Given the description of an element on the screen output the (x, y) to click on. 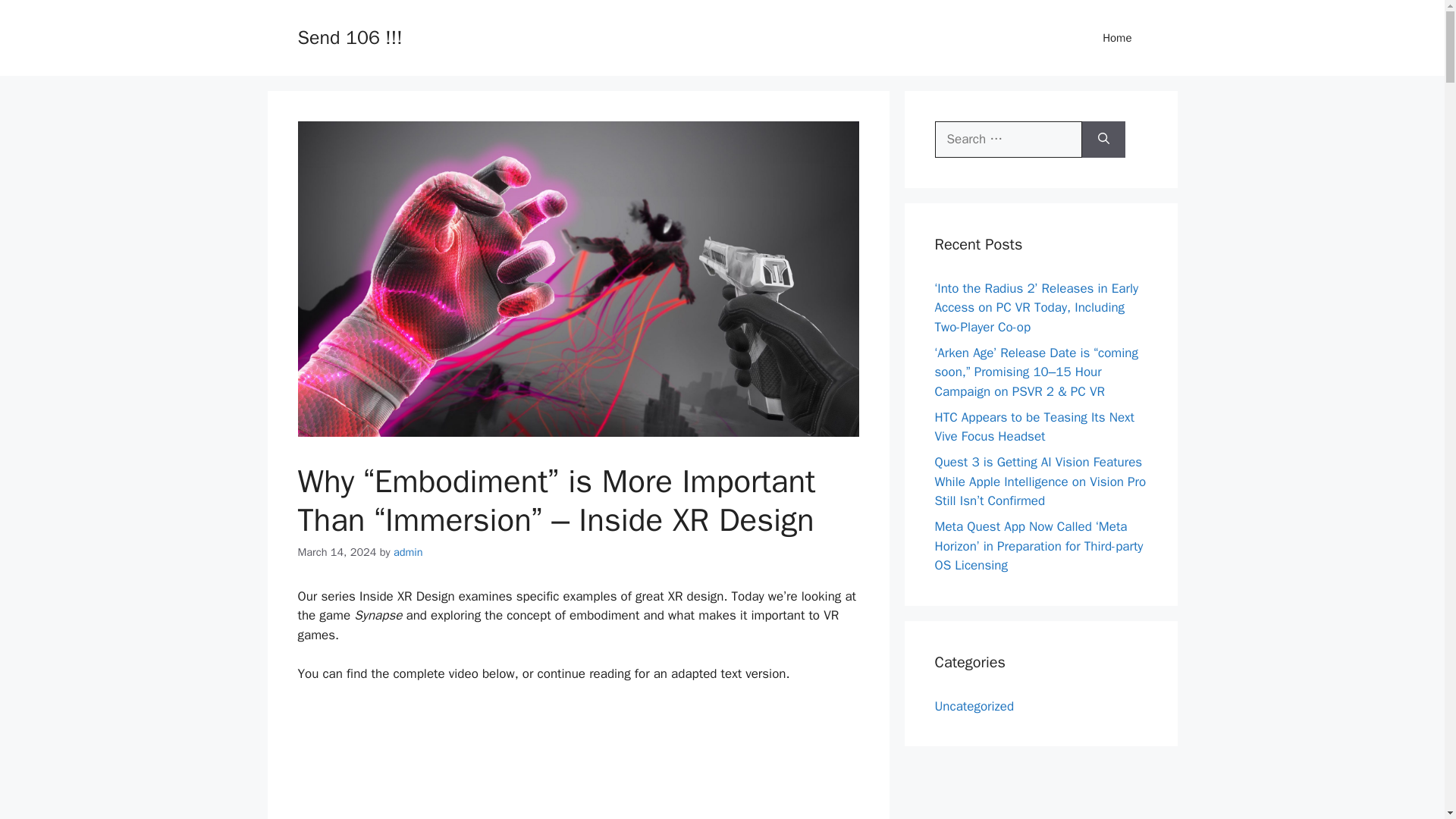
HTC Appears to be Teasing Its Next Vive Focus Headset (1034, 427)
Send 106 !!! (349, 37)
Search for: (1007, 139)
admin (408, 551)
View all posts by admin (408, 551)
Uncategorized (973, 705)
Home (1117, 37)
